Given the description of an element on the screen output the (x, y) to click on. 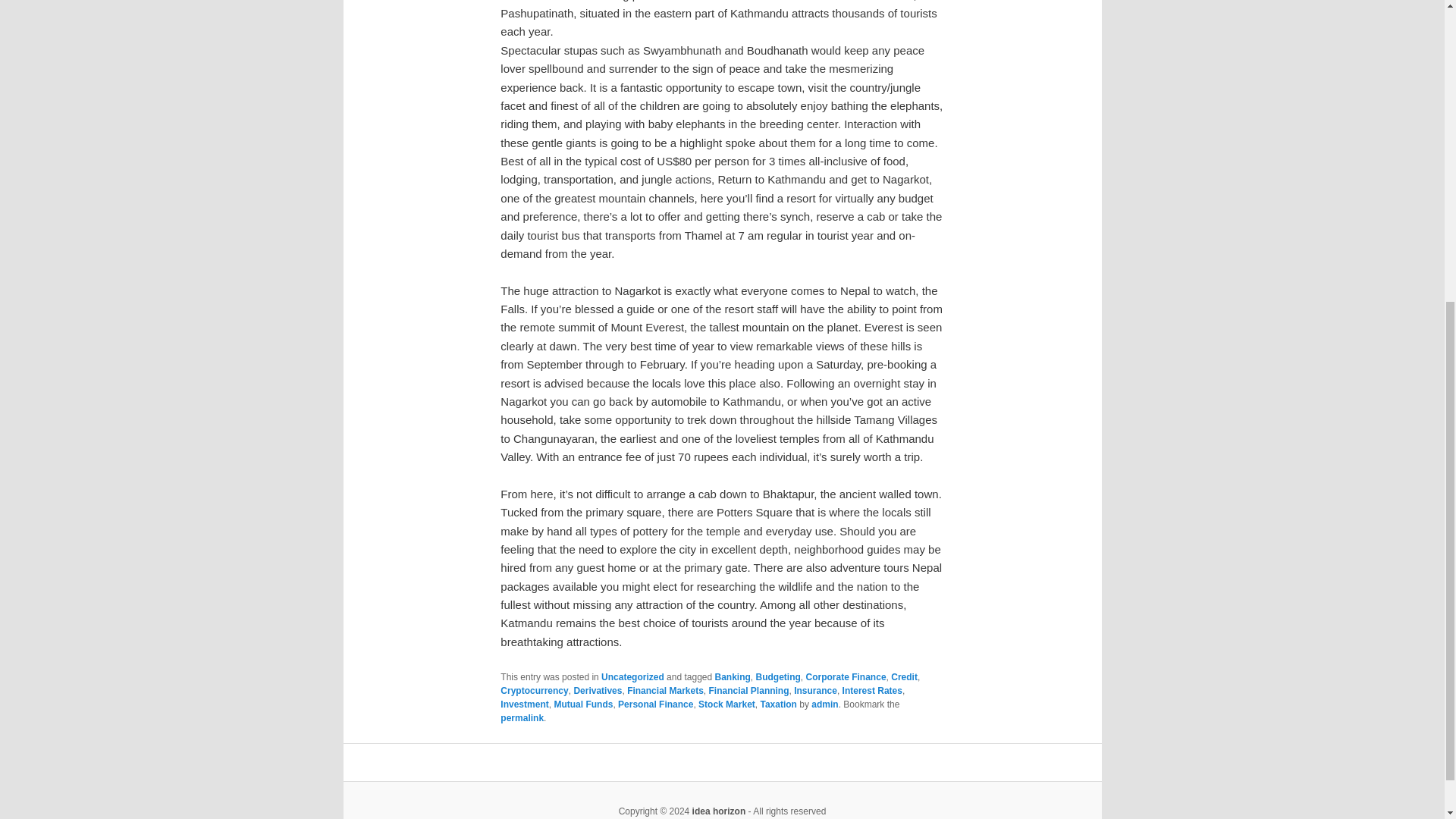
Uncategorized (632, 676)
Financial Markets (665, 690)
Stock Market (726, 704)
Banking (732, 676)
Cryptocurrency (533, 690)
View all posts in Uncategorized (632, 676)
Insurance (815, 690)
Credit (904, 676)
Interest Rates (872, 690)
Corporate Finance (846, 676)
Financial Planning (749, 690)
Budgeting (777, 676)
Investment (524, 704)
permalink (521, 717)
